Given the description of an element on the screen output the (x, y) to click on. 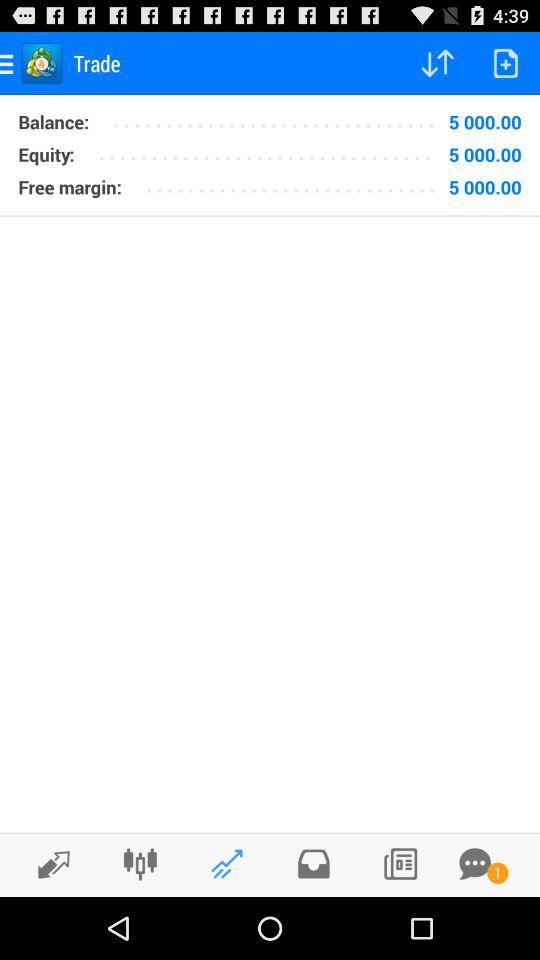
toggle settings (140, 863)
